Given the description of an element on the screen output the (x, y) to click on. 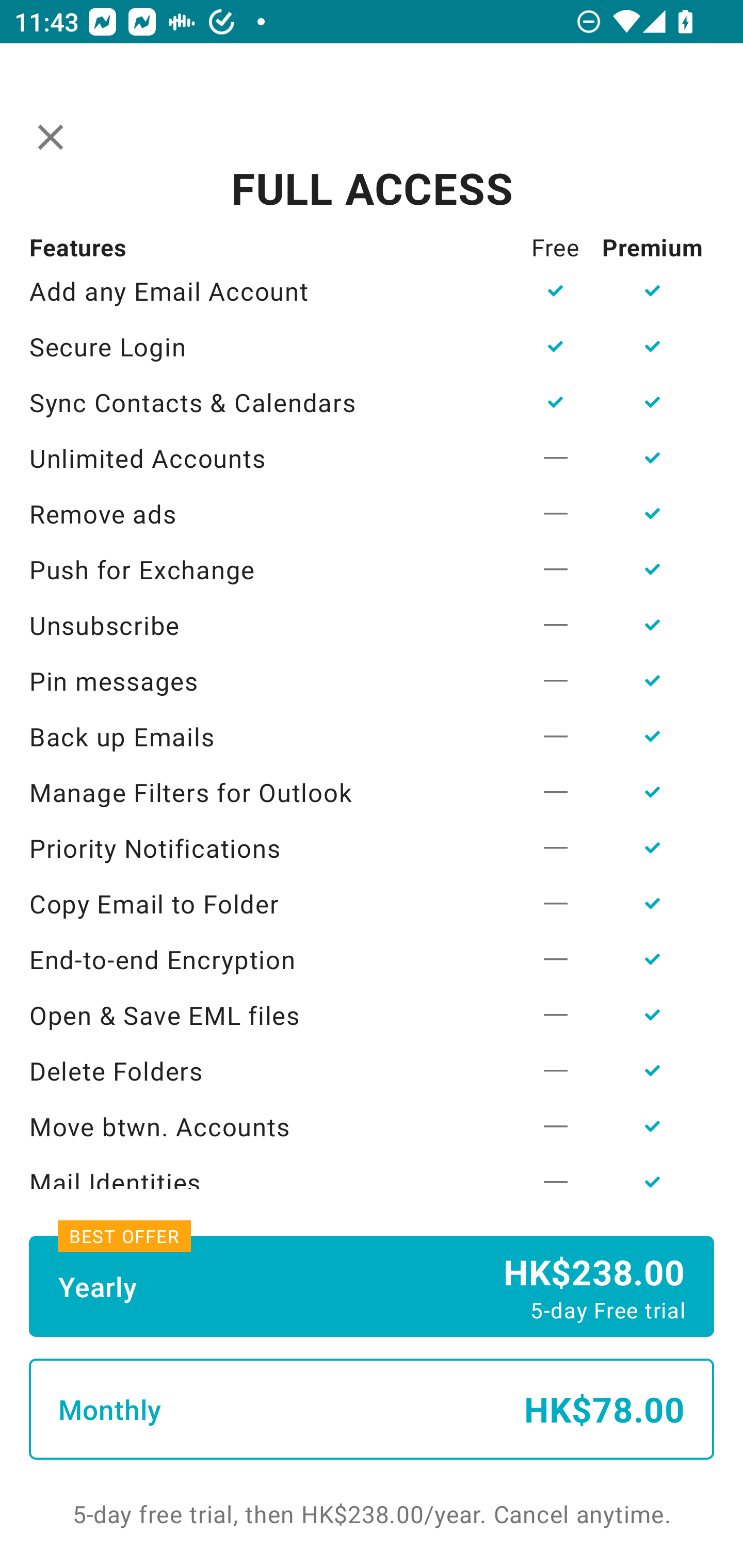
Yearly HK$238.00 5-day Free trial (371, 1286)
Monthly HK$78.00 (371, 1408)
